Given the description of an element on the screen output the (x, y) to click on. 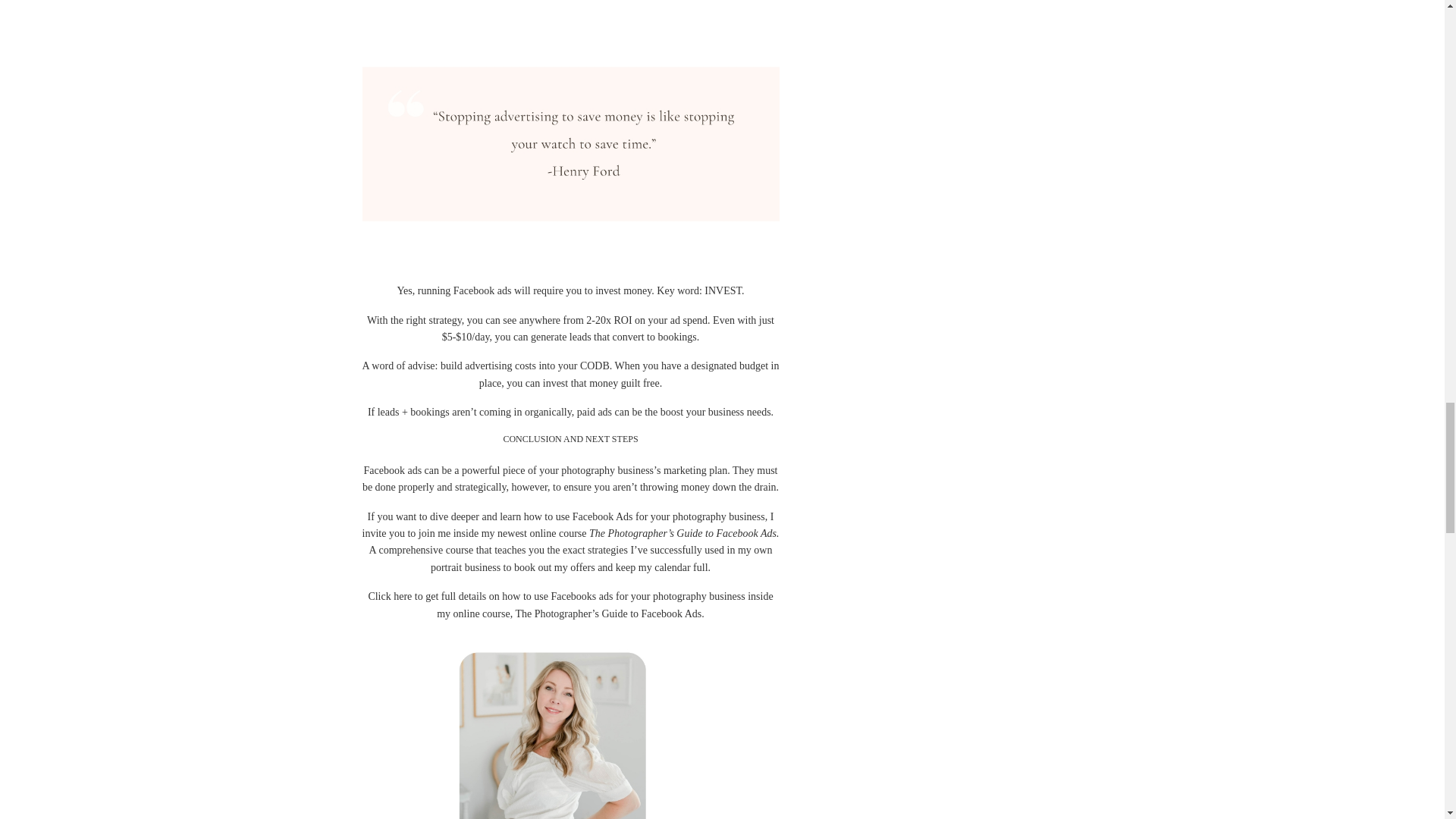
Click here (390, 595)
